Given the description of an element on the screen output the (x, y) to click on. 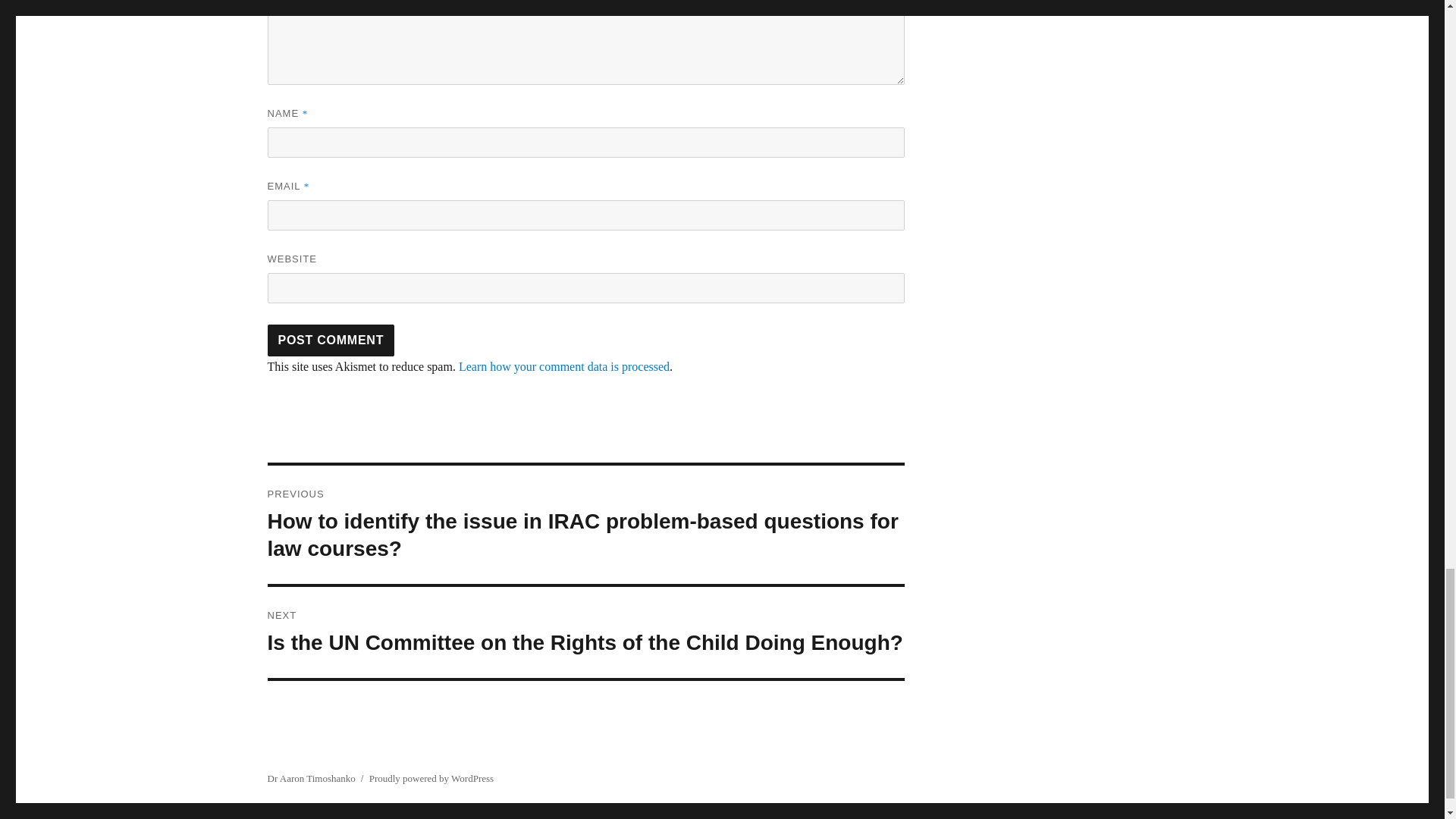
Post Comment (330, 340)
Learn how your comment data is processed (563, 366)
Post Comment (330, 340)
